Given the description of an element on the screen output the (x, y) to click on. 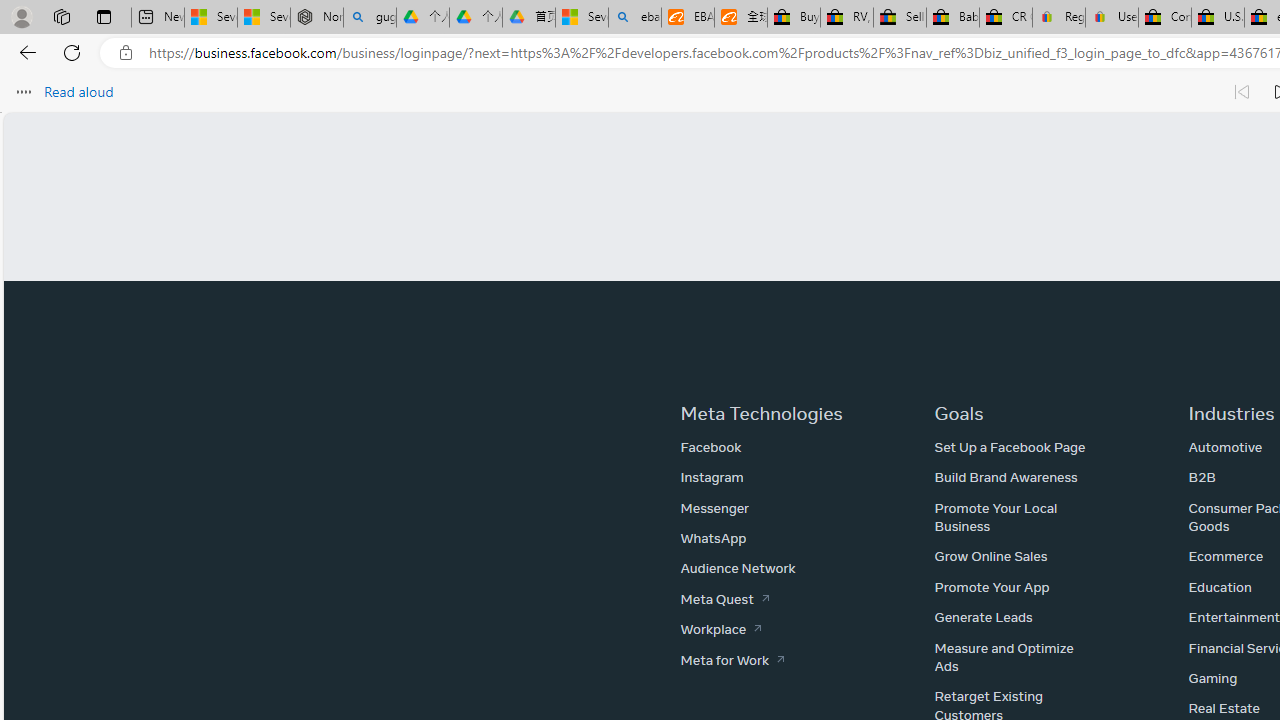
Facebook (710, 447)
User Privacy Notice | eBay (1111, 17)
Automotive (1225, 447)
Messenger (714, 507)
WhatsApp (713, 538)
Ecommerce (1225, 556)
Generate Leads (983, 617)
